Given the description of an element on the screen output the (x, y) to click on. 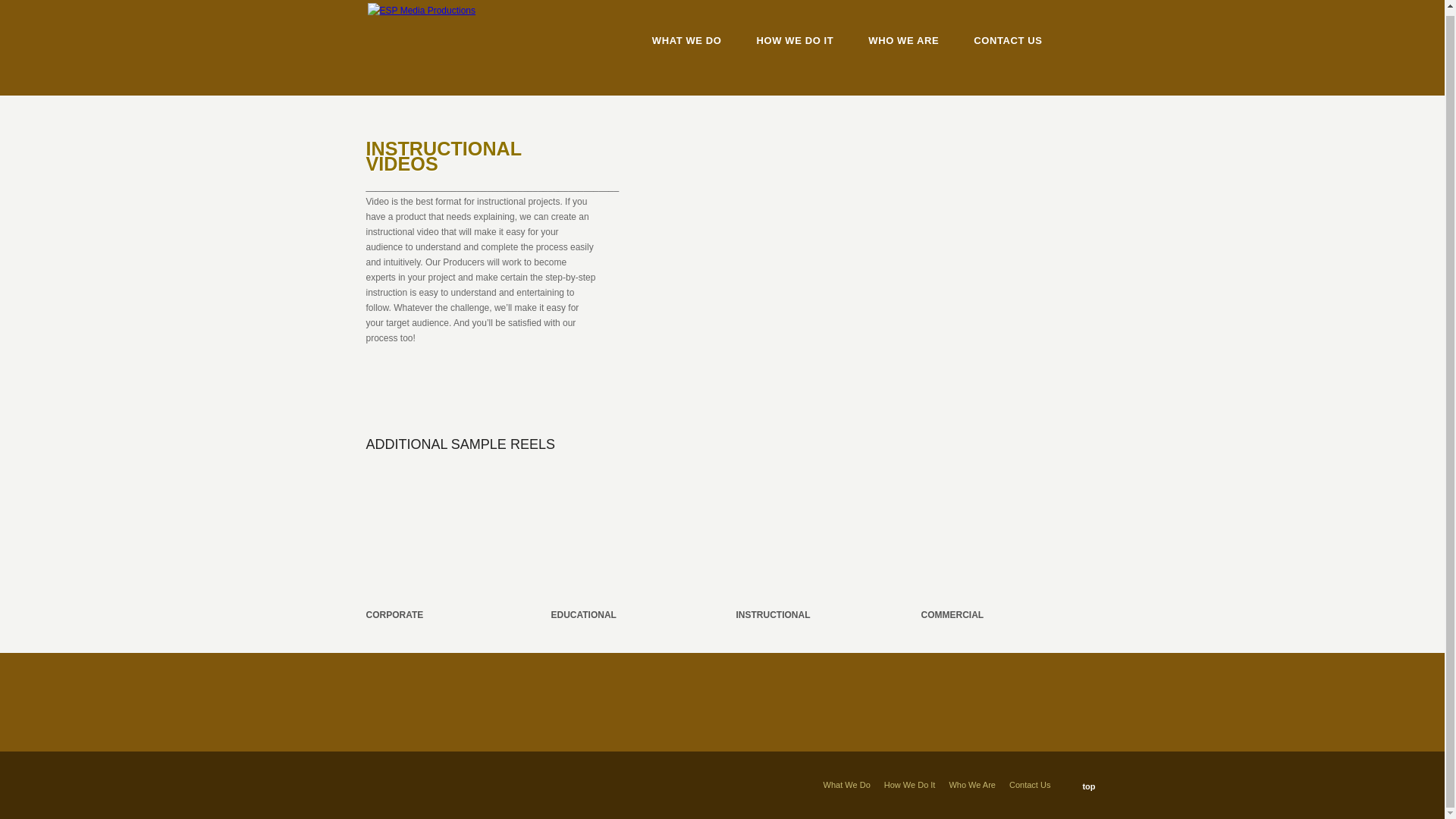
WHAT WE DO (687, 40)
How We Do It (909, 784)
WHO WE ARE (903, 40)
Contact Us (1029, 784)
CONTACT US (1008, 40)
Who We Are (972, 784)
What We Do (847, 784)
top (1081, 784)
HOW WE DO IT (795, 40)
